Given the description of an element on the screen output the (x, y) to click on. 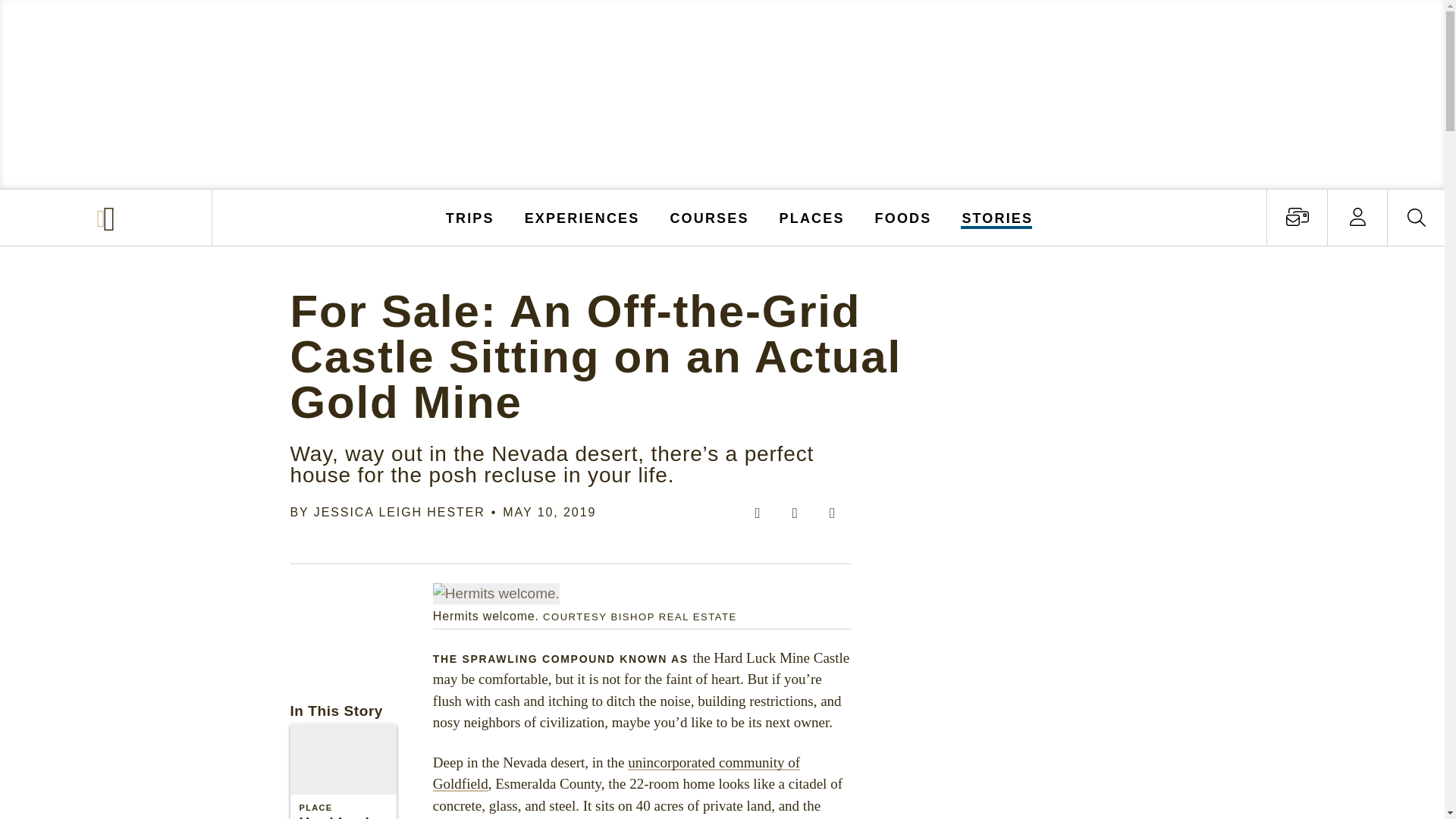
COURSES (707, 217)
PLACES (812, 217)
EXPERIENCES (582, 217)
TRIPS (469, 217)
